Given the description of an element on the screen output the (x, y) to click on. 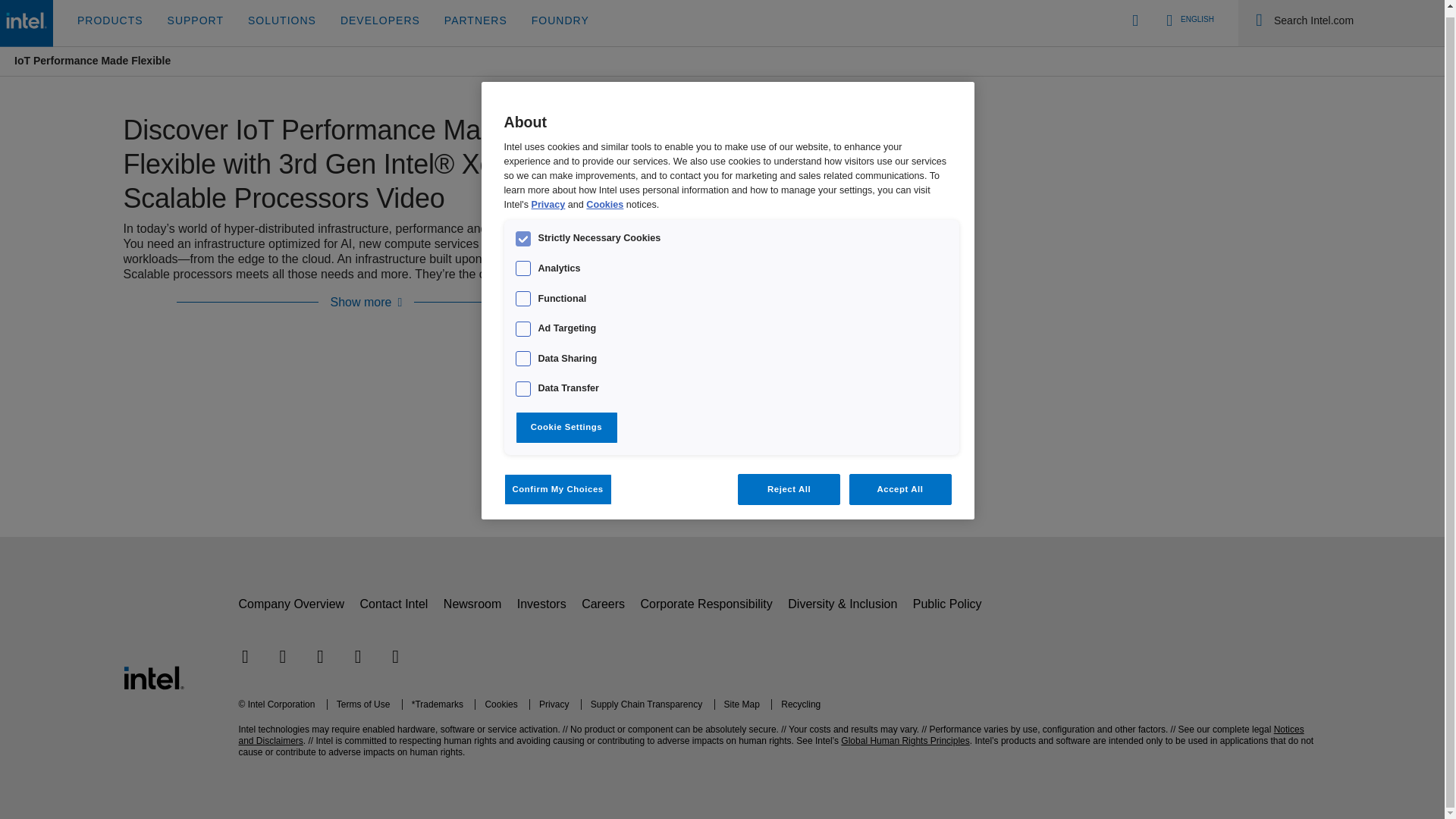
PRODUCTS (110, 23)
Intel Footer Logo (152, 676)
Language Selector (1187, 22)
